Given the description of an element on the screen output the (x, y) to click on. 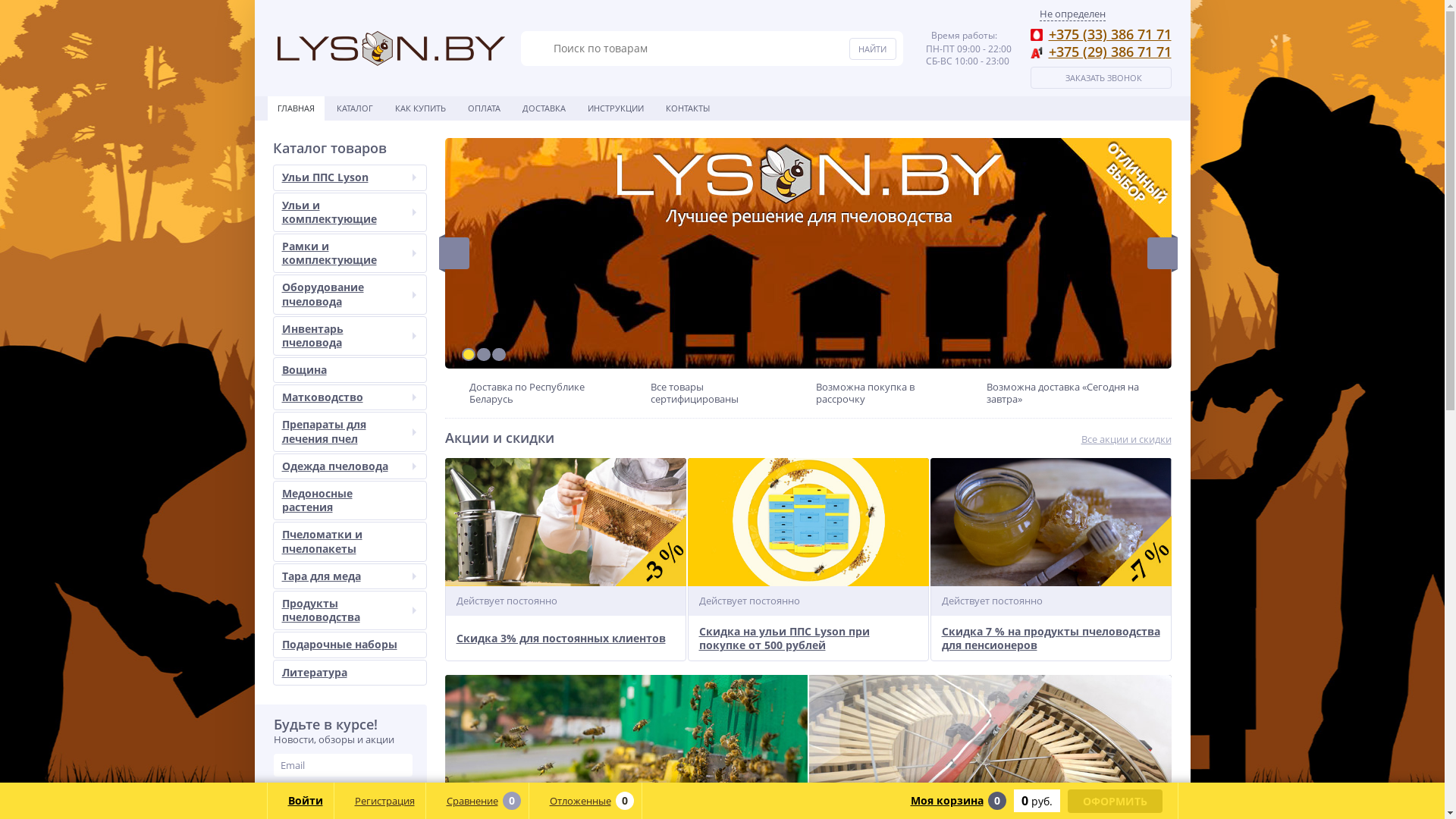
+375 (29) 386 71 71 Element type: text (1109, 51)
+375 (33) 386 71 71 Element type: text (1109, 34)
logo1.png Element type: hover (391, 48)
3 Element type: hover (498, 354)
2 Element type: hover (482, 354)
1 Element type: hover (467, 354)
